Given the description of an element on the screen output the (x, y) to click on. 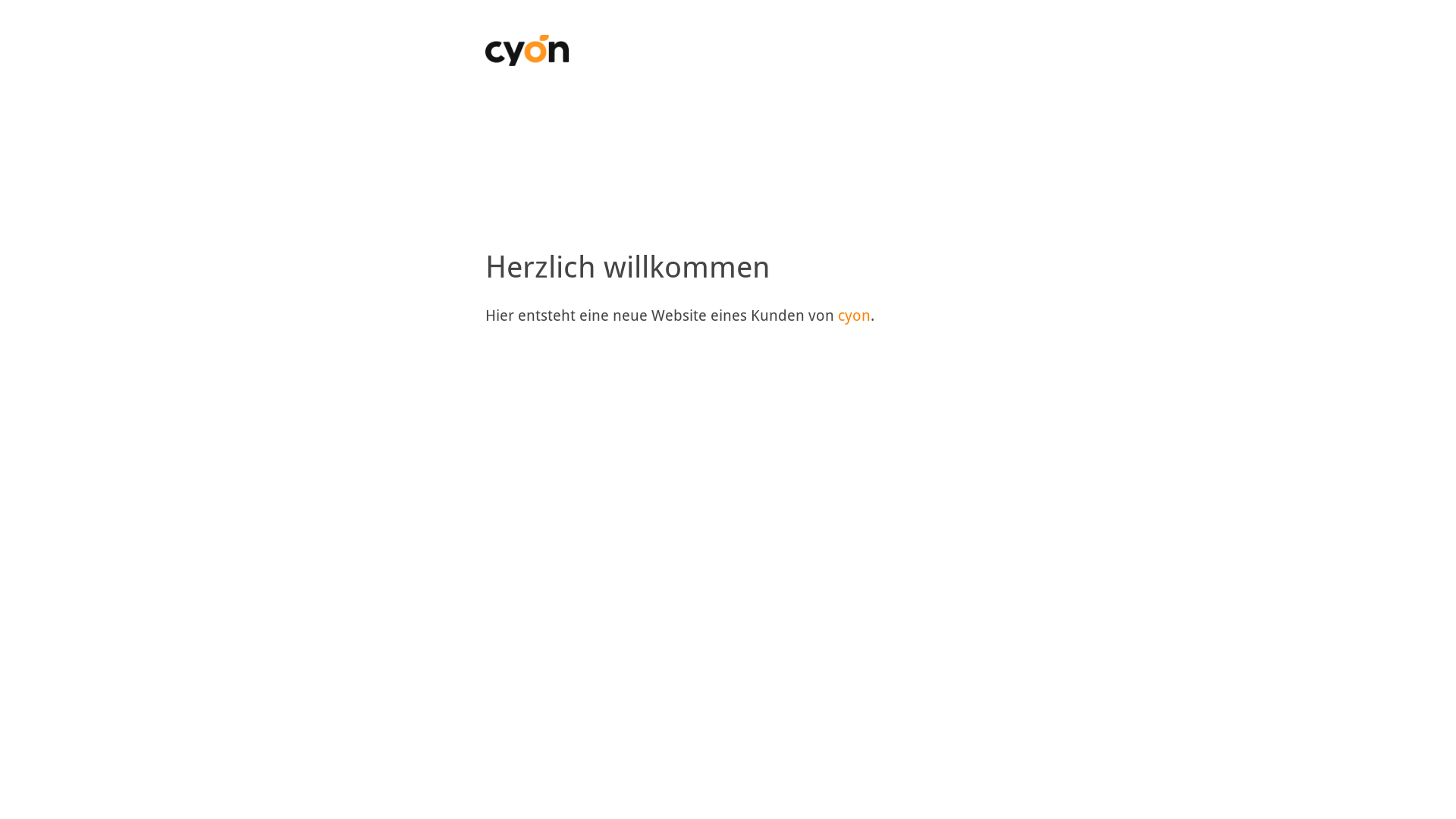
cyon Element type: text (853, 315)
